Given the description of an element on the screen output the (x, y) to click on. 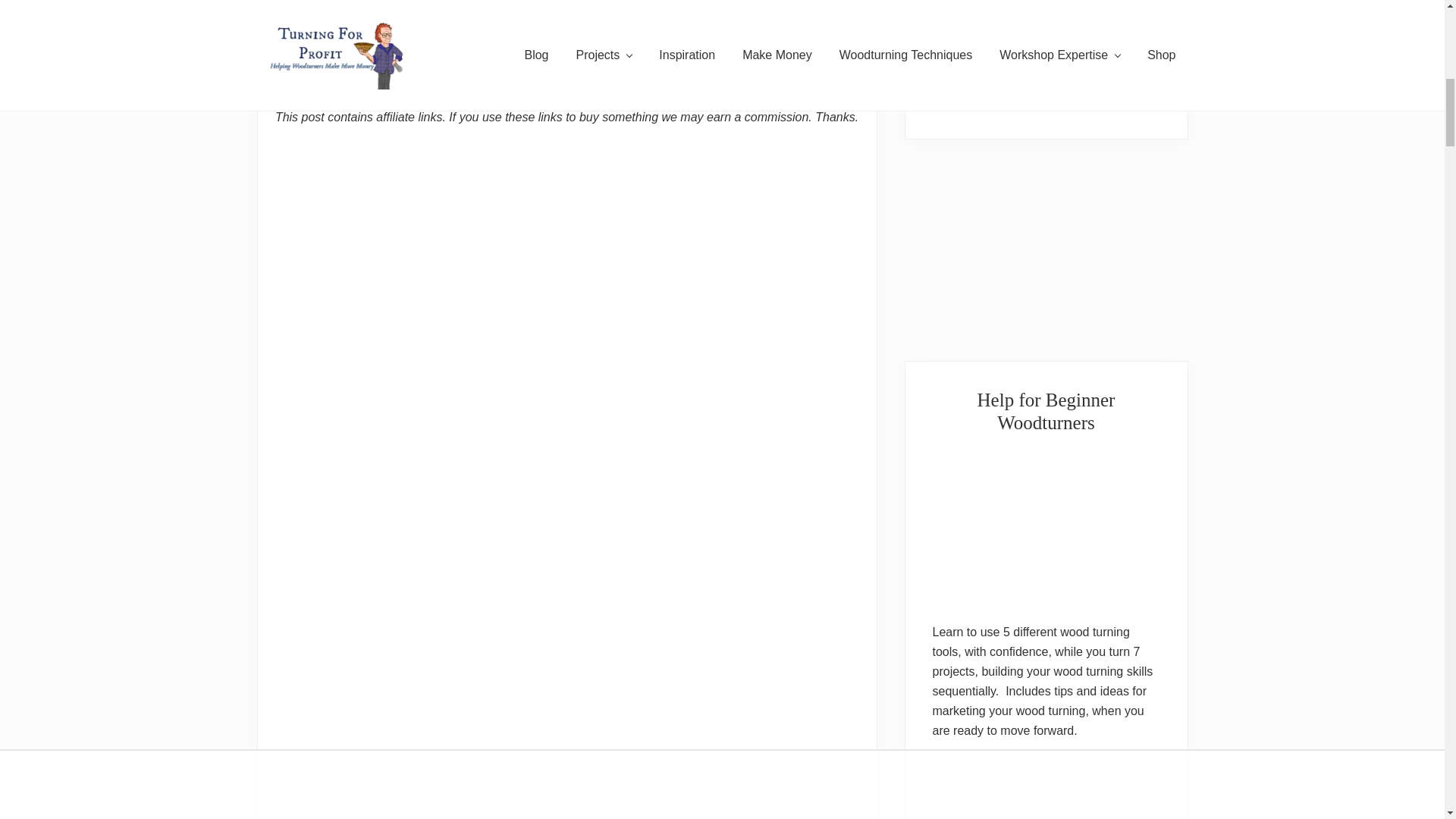
1 Comment (352, 61)
Robin (309, 61)
1 Comment (352, 61)
